Given the description of an element on the screen output the (x, y) to click on. 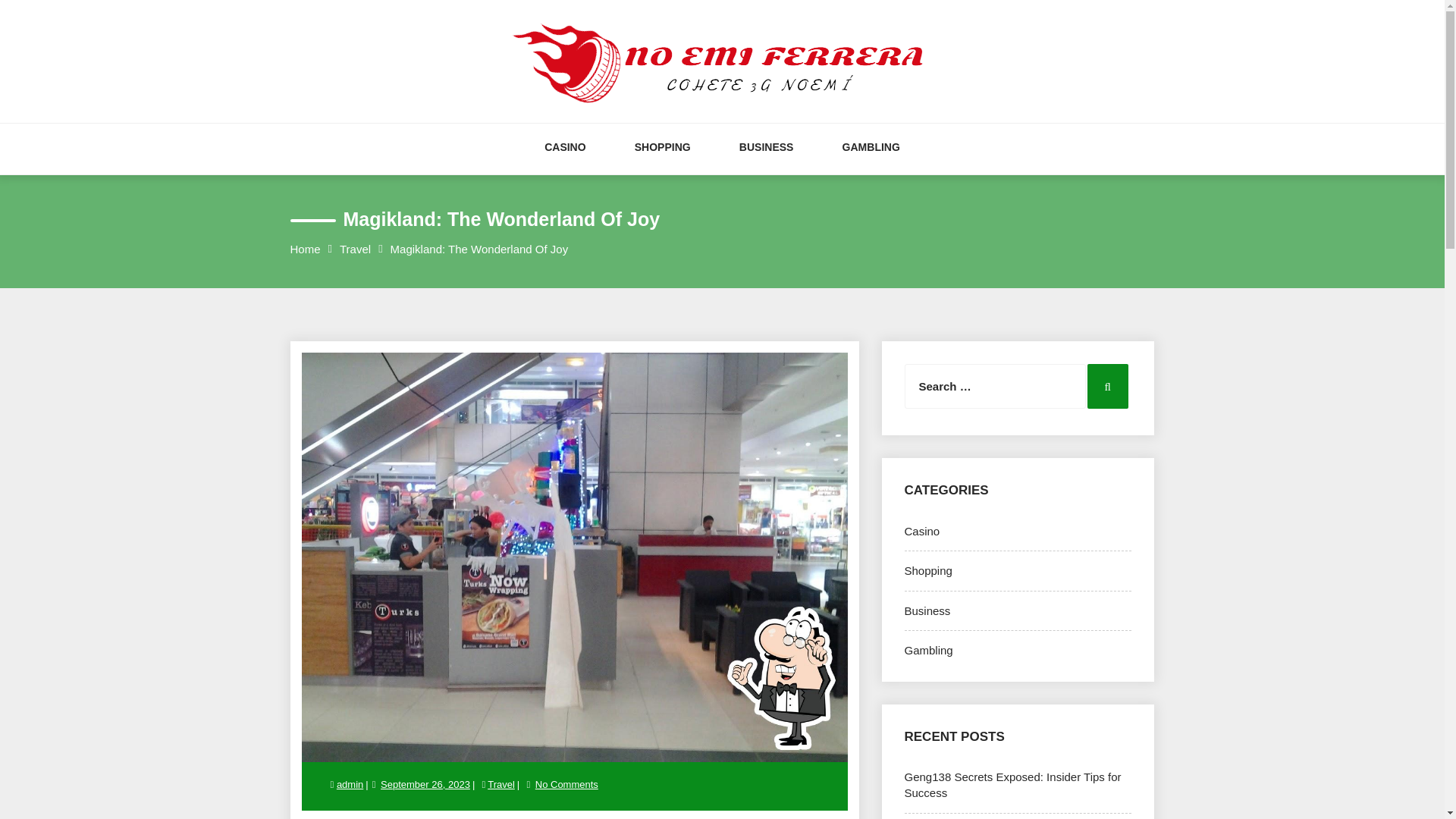
CASINO (564, 162)
BUSINESS (766, 162)
No Comments (565, 784)
admin (350, 784)
Casino (921, 530)
September 26, 2023 (424, 784)
Business (927, 610)
Search (1107, 385)
Gambling (928, 649)
Shopping (928, 570)
